Given the description of an element on the screen output the (x, y) to click on. 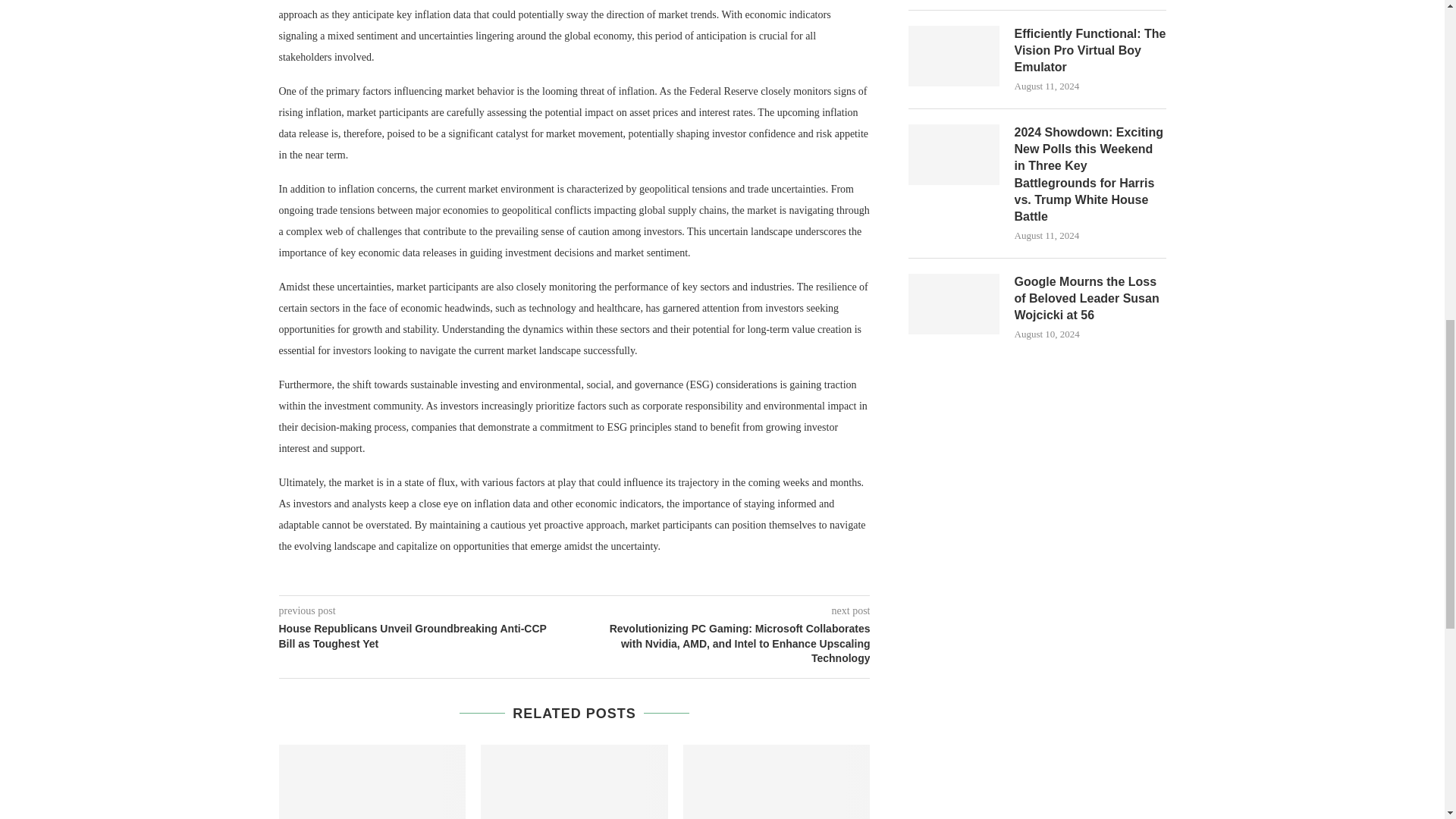
Efficiently Functional: The Vision Pro Virtual Boy Emulator (1090, 50)
Efficiently Functional: The Vision Pro Virtual Boy Emulator (1090, 50)
Efficiently Functional: The Vision Pro Virtual Boy Emulator (953, 55)
Decline in IT BUY Signals Signals Significant Shift (776, 781)
